Given the description of an element on the screen output the (x, y) to click on. 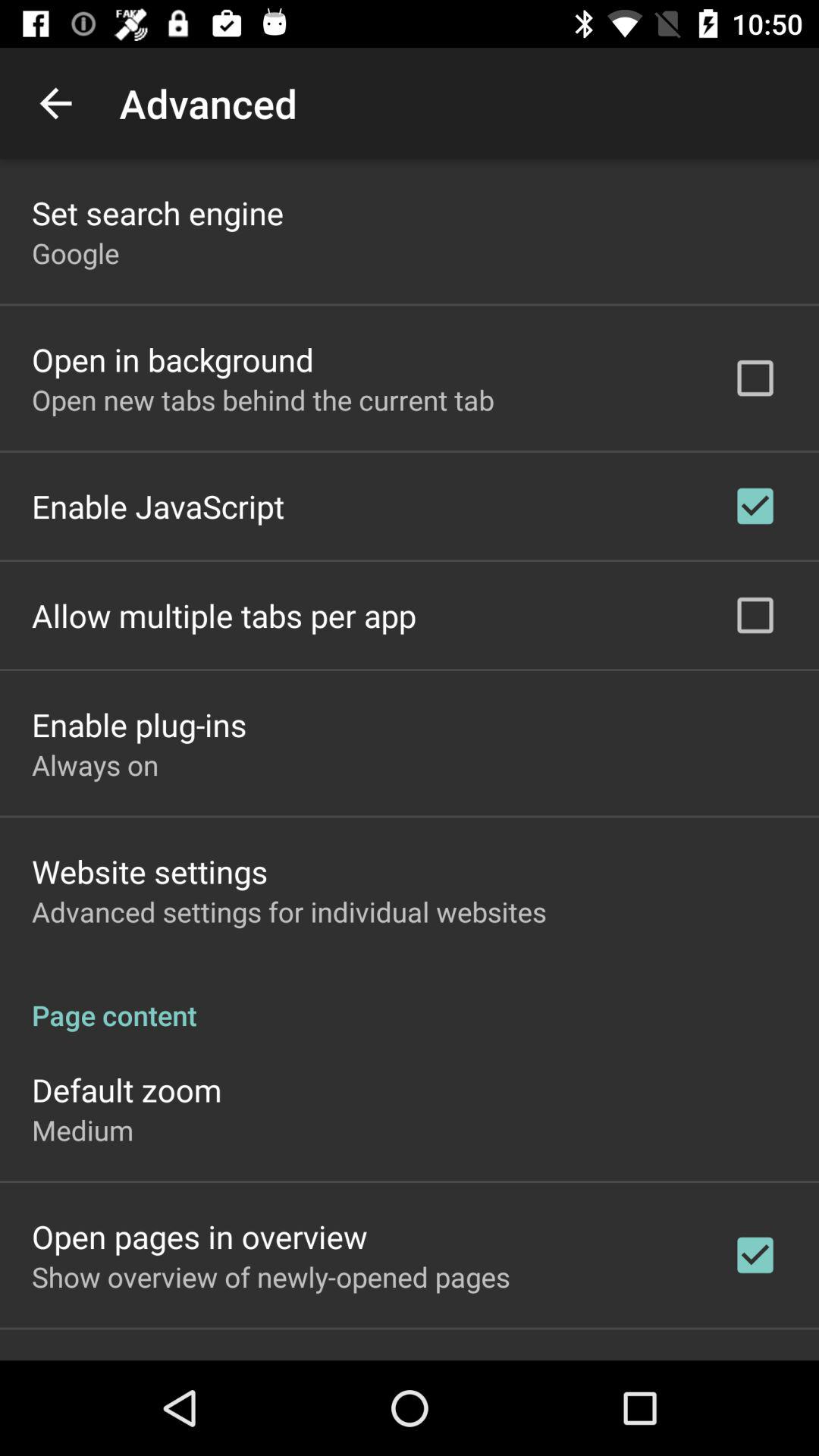
open always on (94, 764)
